Given the description of an element on the screen output the (x, y) to click on. 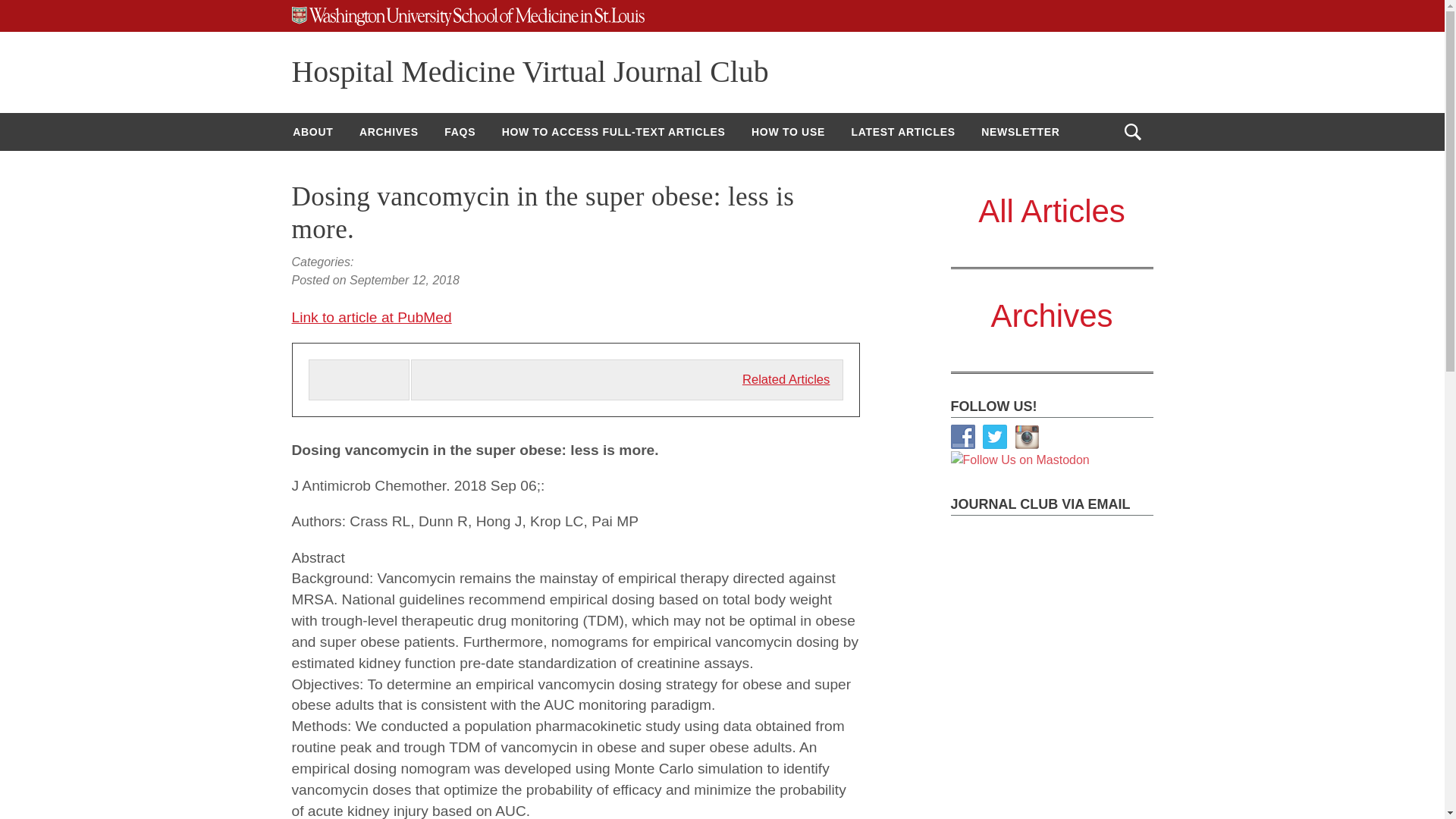
Follow Us on Facebook (962, 436)
ABOUT (312, 131)
PRIVACY POLICY AND TERMS OF USE (398, 170)
NEWSLETTER (1019, 131)
Archives (1051, 315)
LATEST ARTICLES (903, 131)
Follow Us on Mastodon (1019, 459)
Follow Us on Instagram (1026, 436)
FAQS (459, 131)
